Given the description of an element on the screen output the (x, y) to click on. 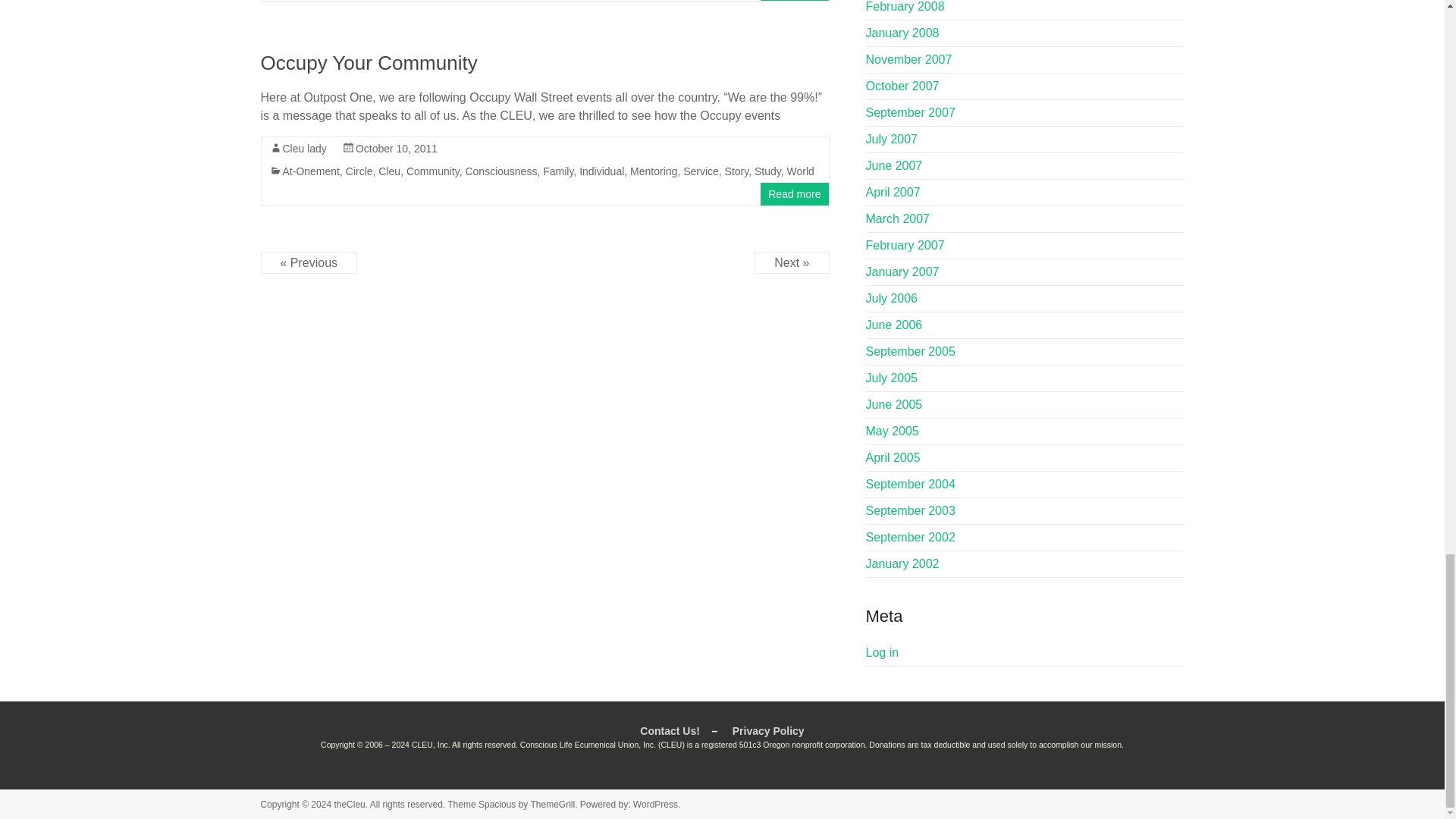
4:37 pm (396, 148)
Spacious (497, 804)
Occupy Your Community (368, 62)
theCleu (349, 804)
